Given the description of an element on the screen output the (x, y) to click on. 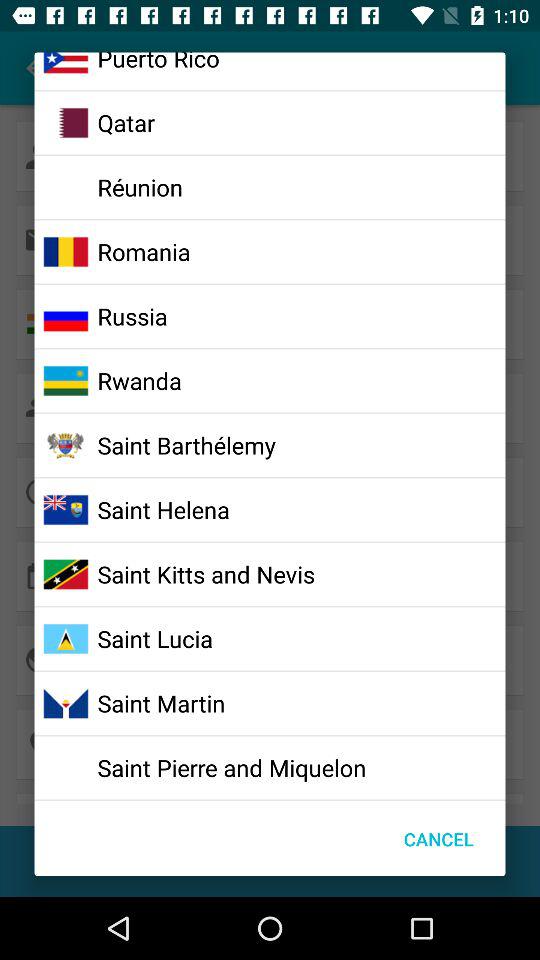
tap the saint martin icon (161, 703)
